Given the description of an element on the screen output the (x, y) to click on. 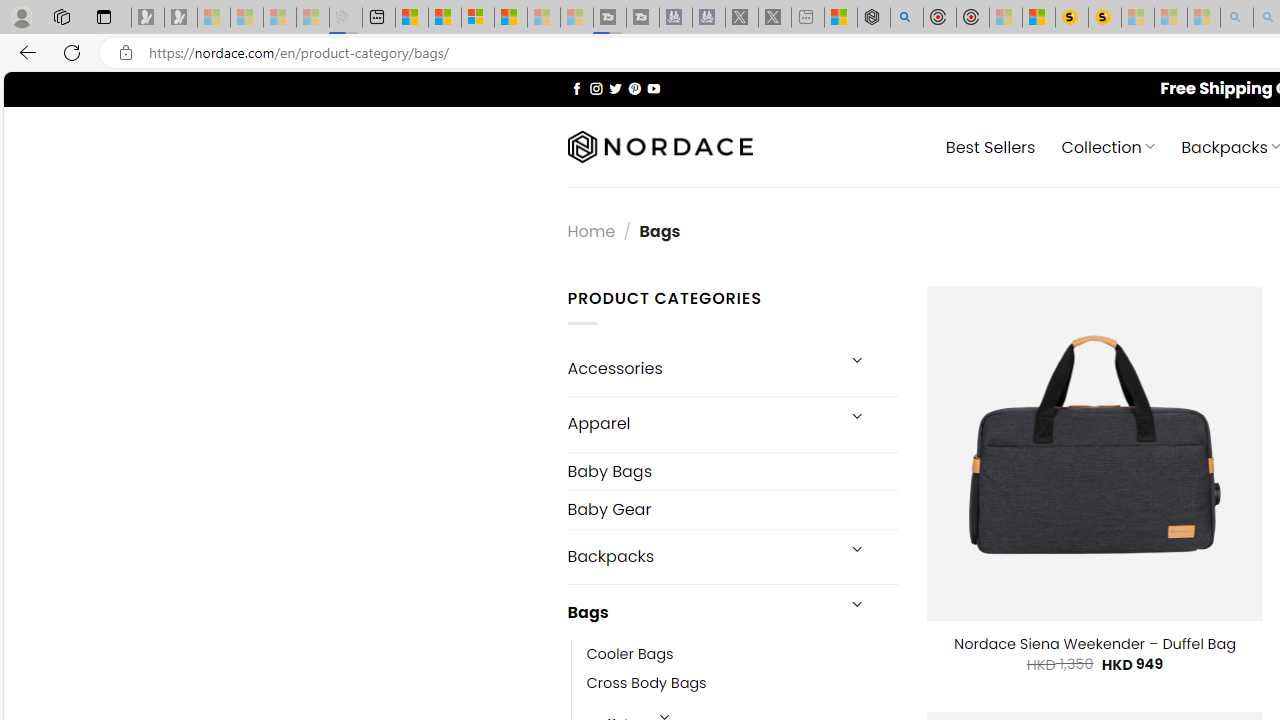
Back (24, 52)
Baby Gear (732, 509)
Bags (700, 613)
Apparel (700, 423)
Refresh (72, 52)
Follow on Instagram (596, 88)
